Given the description of an element on the screen output the (x, y) to click on. 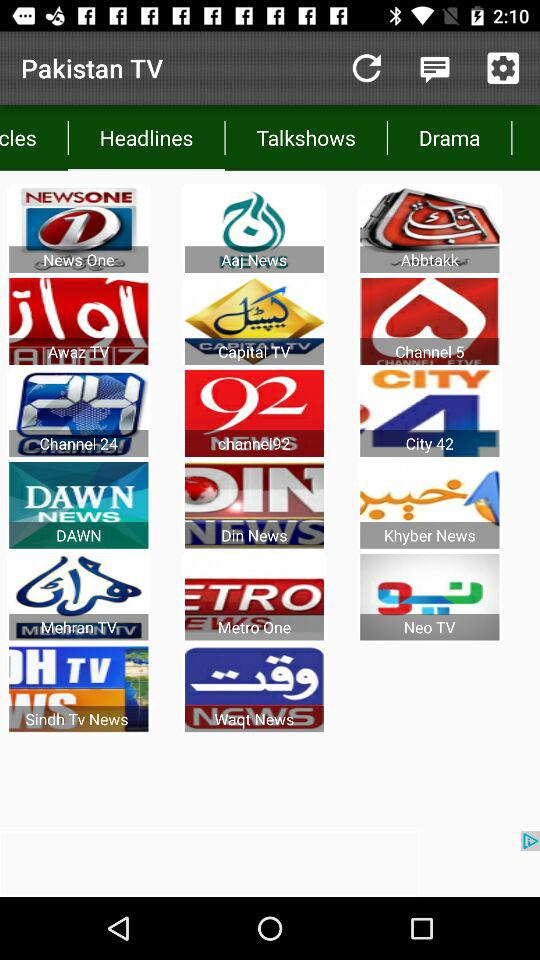
choose the articles app (34, 137)
